Given the description of an element on the screen output the (x, y) to click on. 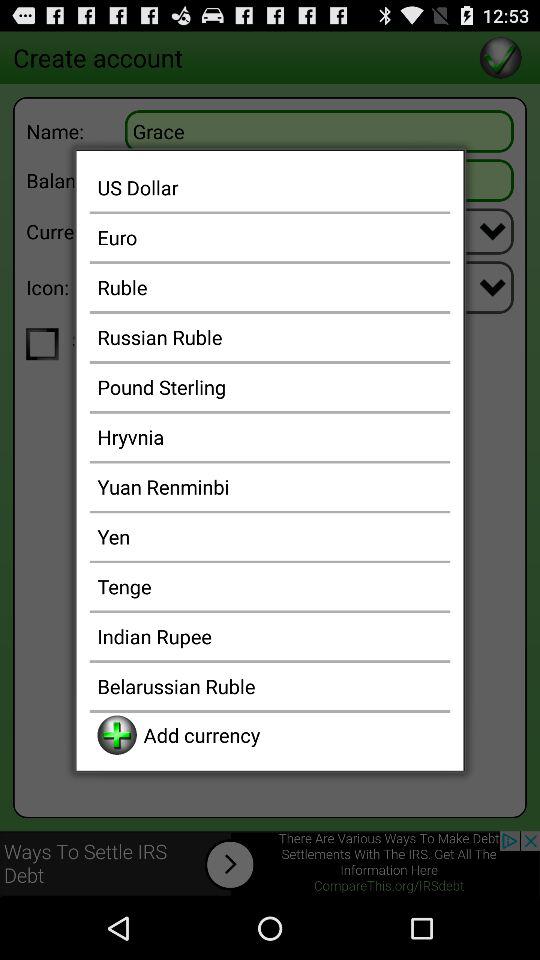
select indian rupee item (269, 636)
